Given the description of an element on the screen output the (x, y) to click on. 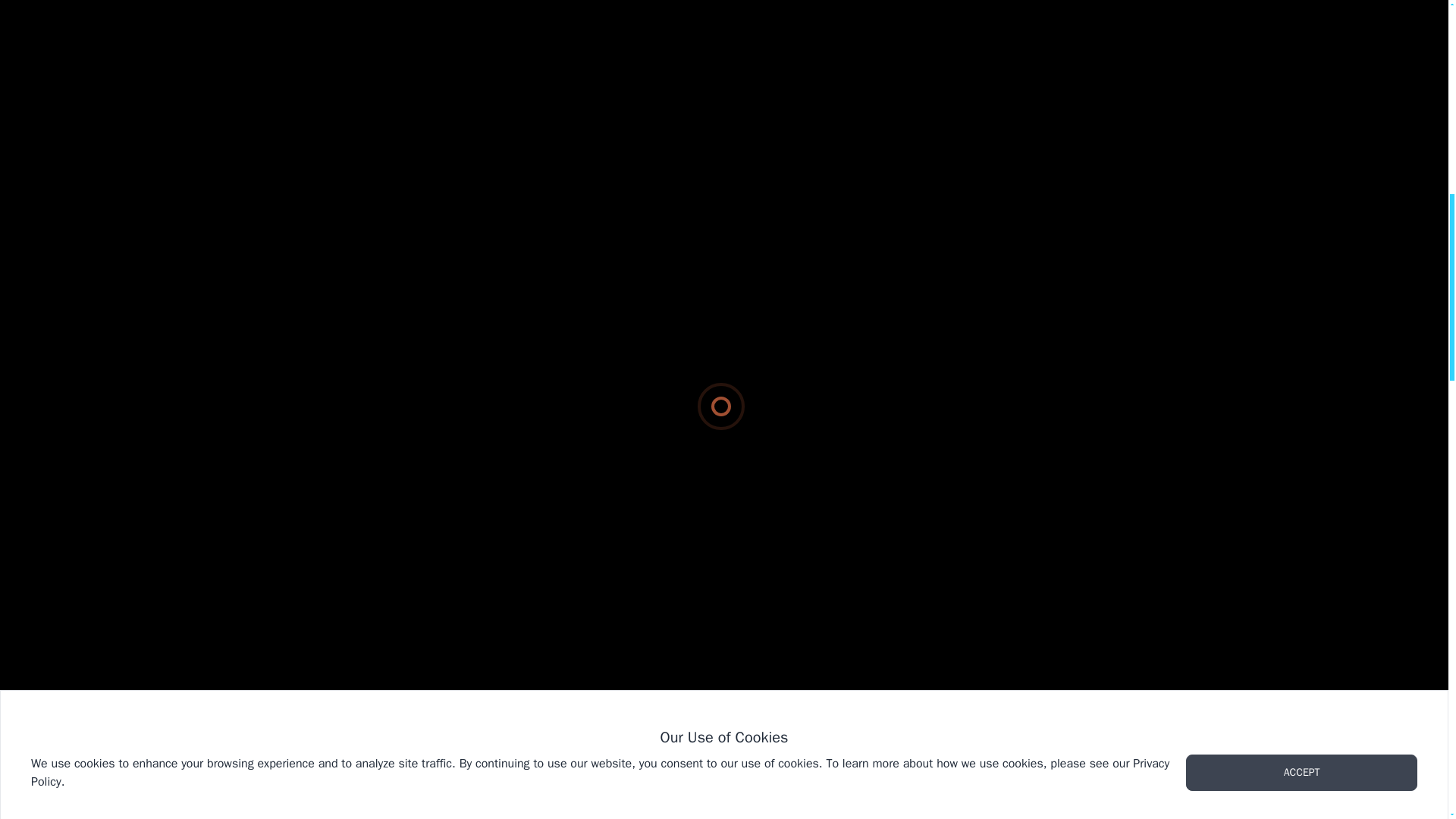
DETAILS (723, 539)
DETAILS (405, 539)
DETAILS (1042, 539)
